Given the description of an element on the screen output the (x, y) to click on. 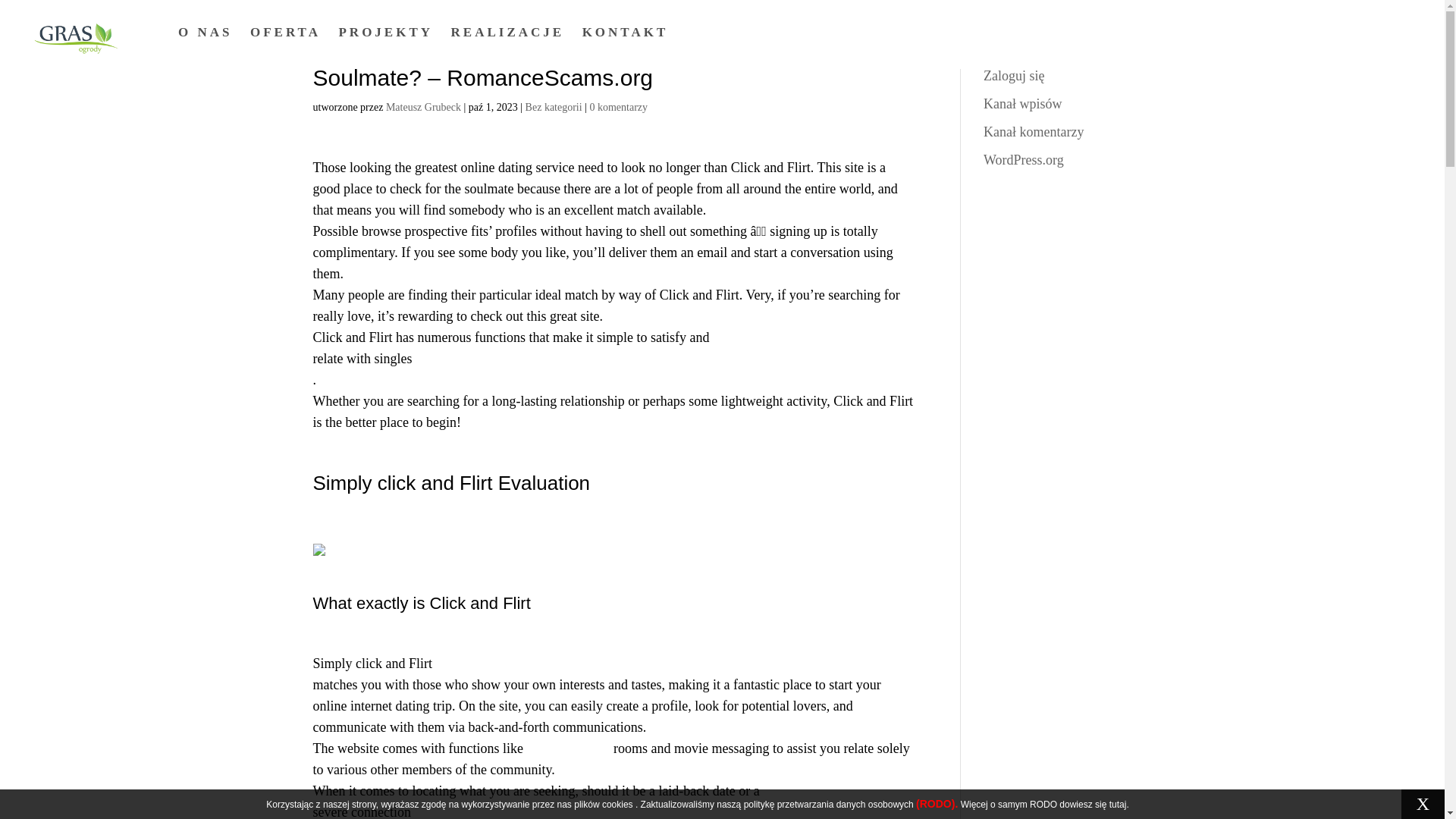
REALIZACJE (508, 34)
OFERTA (286, 34)
KONTAKT (626, 34)
O NAS (205, 34)
PROJEKTY (385, 34)
